Given the description of an element on the screen output the (x, y) to click on. 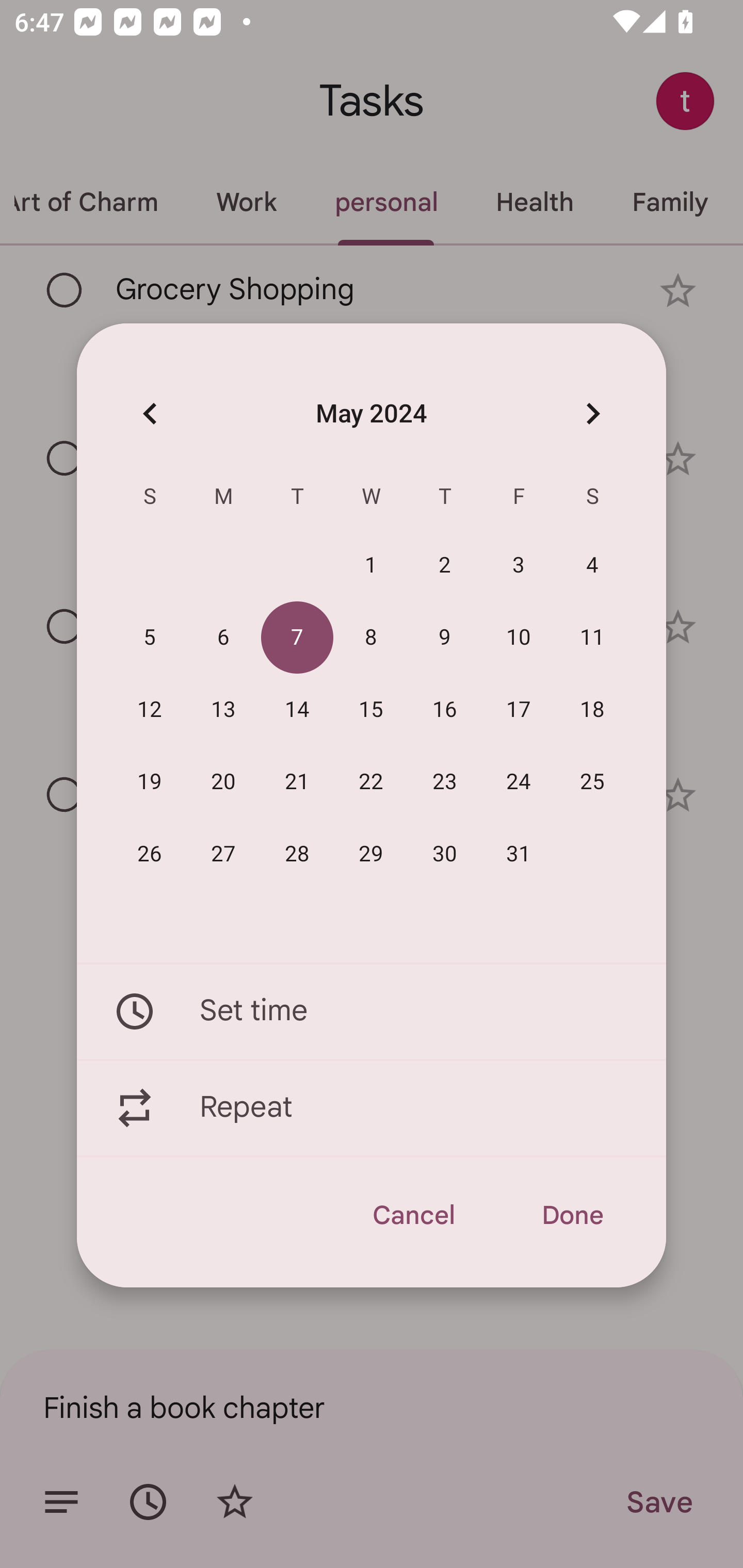
Previous month (149, 413)
Next month (592, 413)
1 01 May 2024 (370, 565)
2 02 May 2024 (444, 565)
3 03 May 2024 (518, 565)
4 04 May 2024 (592, 565)
5 05 May 2024 (149, 638)
6 06 May 2024 (223, 638)
7 07 May 2024 (297, 638)
8 08 May 2024 (370, 638)
9 09 May 2024 (444, 638)
10 10 May 2024 (518, 638)
11 11 May 2024 (592, 638)
12 12 May 2024 (149, 710)
13 13 May 2024 (223, 710)
14 14 May 2024 (297, 710)
15 15 May 2024 (370, 710)
16 16 May 2024 (444, 710)
17 17 May 2024 (518, 710)
18 18 May 2024 (592, 710)
19 19 May 2024 (149, 782)
20 20 May 2024 (223, 782)
21 21 May 2024 (297, 782)
22 22 May 2024 (370, 782)
23 23 May 2024 (444, 782)
24 24 May 2024 (518, 782)
25 25 May 2024 (592, 782)
26 26 May 2024 (149, 854)
27 27 May 2024 (223, 854)
28 28 May 2024 (297, 854)
29 29 May 2024 (370, 854)
30 30 May 2024 (444, 854)
31 31 May 2024 (518, 854)
Set time (371, 1011)
Repeat (371, 1108)
Cancel (412, 1215)
Done (571, 1215)
